Given the description of an element on the screen output the (x, y) to click on. 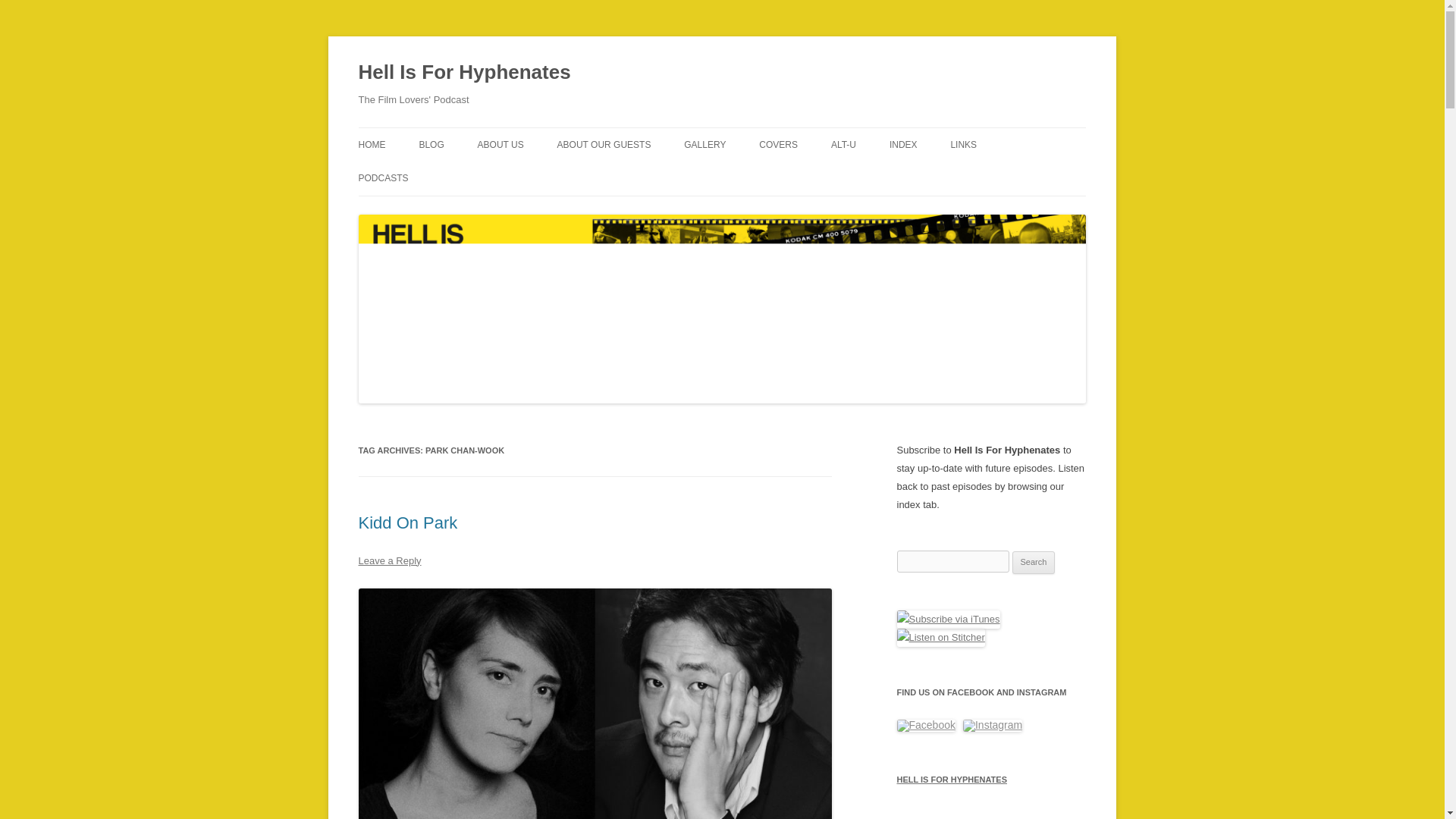
Hell Is For Hyphenates (464, 72)
COVERS (777, 144)
Hell Is For Hyphenates (464, 72)
Kidd On Park (407, 522)
Like us on Facebook (925, 725)
PODCASTS (382, 177)
ABOUT US (500, 144)
Search (1033, 562)
